Given the description of an element on the screen output the (x, y) to click on. 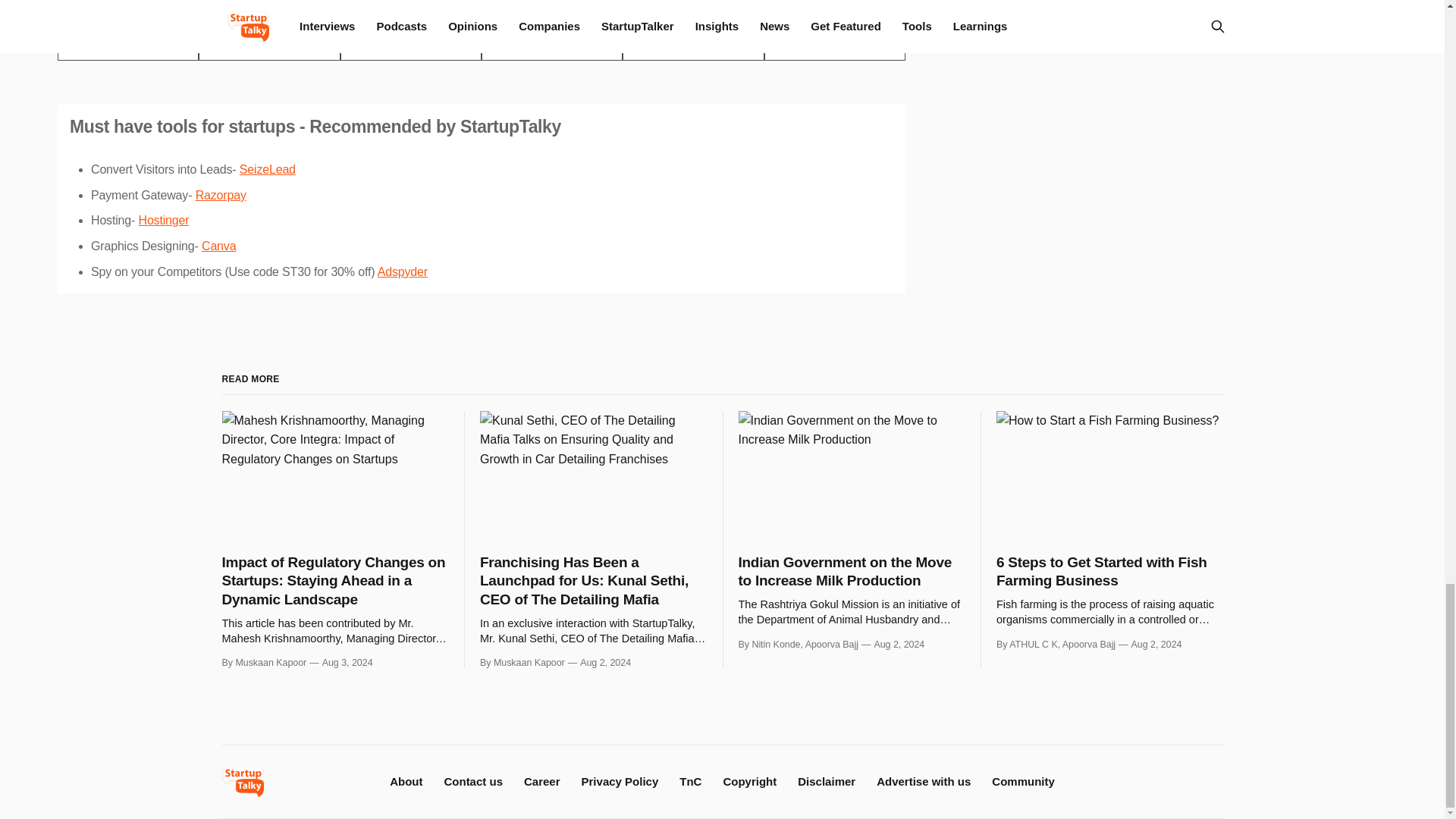
Copy to clipboard (692, 45)
Career (542, 780)
SeizeLead (267, 169)
Privacy Policy (619, 780)
Canva (218, 245)
Bookmark (834, 45)
Share on Linkedin (410, 45)
Share on Facebook (268, 45)
Share on Twitter (128, 45)
Razorpay (220, 195)
Share by email (552, 45)
Hostinger (163, 219)
Adspyder (402, 271)
Contact us (473, 780)
